Given the description of an element on the screen output the (x, y) to click on. 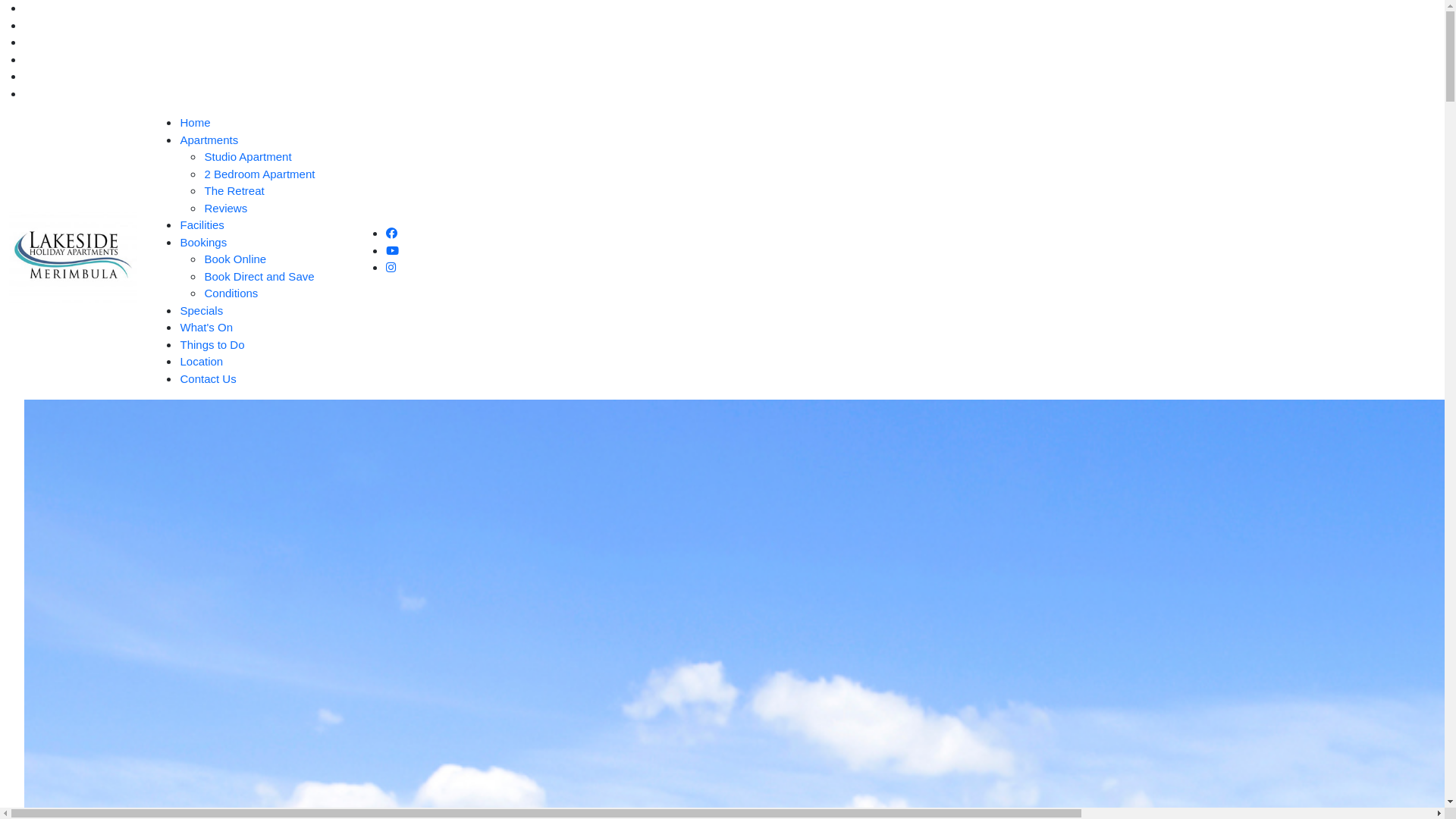
Location Element type: text (200, 360)
Bookings Element type: text (202, 241)
Home Element type: text (194, 122)
Book Direct and Save Element type: text (258, 275)
Specials Element type: text (200, 309)
2 Bedroom Apartment Element type: text (258, 172)
Apartments Element type: text (208, 139)
Facilities Element type: text (201, 224)
The Retreat Element type: text (233, 190)
Reviews Element type: text (225, 207)
Book Online Element type: text (234, 258)
Contact Us Element type: text (207, 377)
Things to Do Element type: text (211, 344)
Conditions Element type: text (230, 292)
Studio Apartment Element type: text (247, 156)
What's On Element type: text (205, 326)
